Given the description of an element on the screen output the (x, y) to click on. 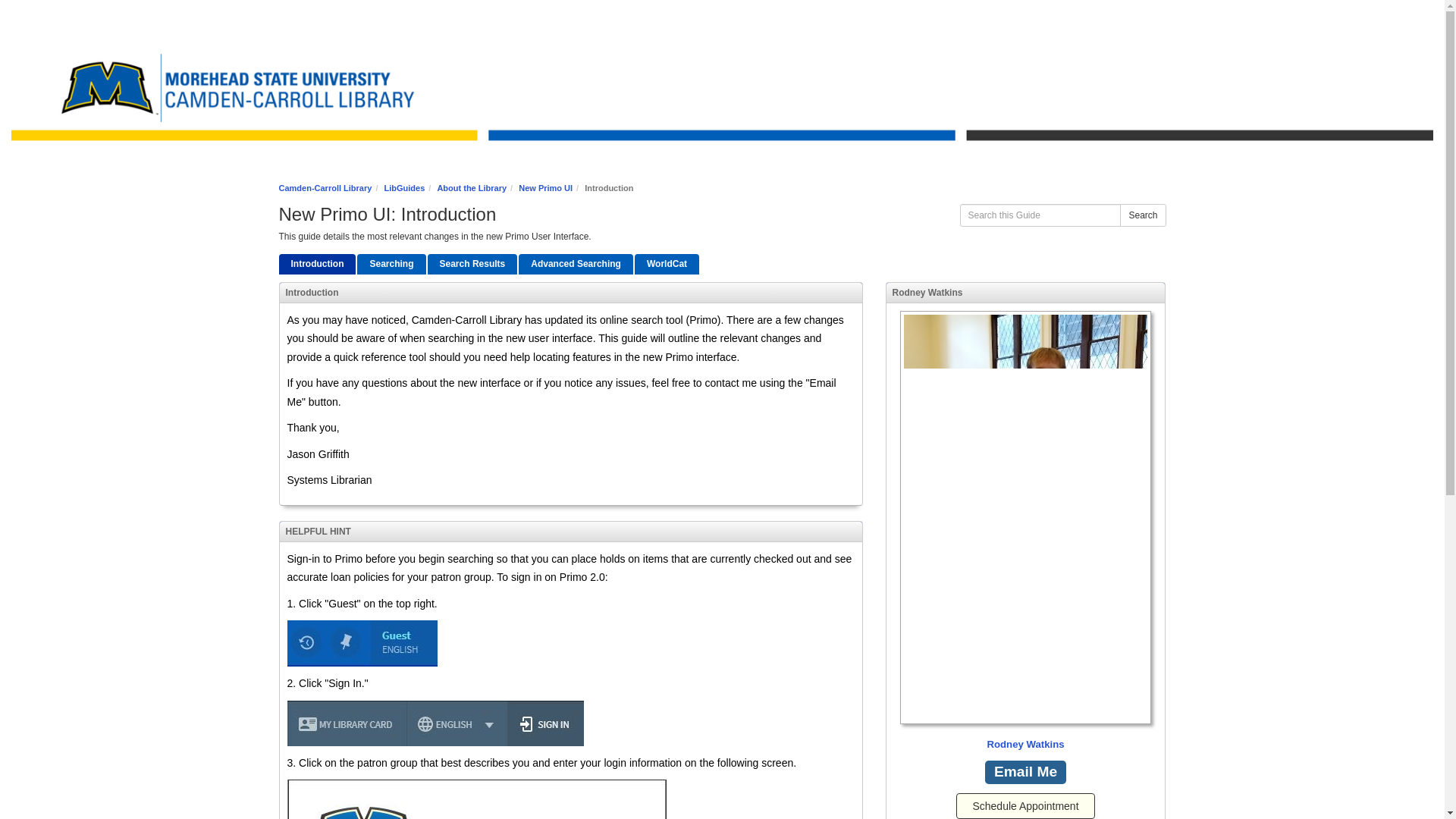
WorldCat (666, 263)
Searching (390, 263)
Search Results (473, 263)
New Primo UI (545, 187)
Camden-Carroll Library (325, 187)
Schedule Appointment (1025, 806)
Introduction (317, 263)
Seamless integration between Primo and WorldCat. (666, 263)
Advanced Searching (575, 263)
Search (1142, 214)
